Given the description of an element on the screen output the (x, y) to click on. 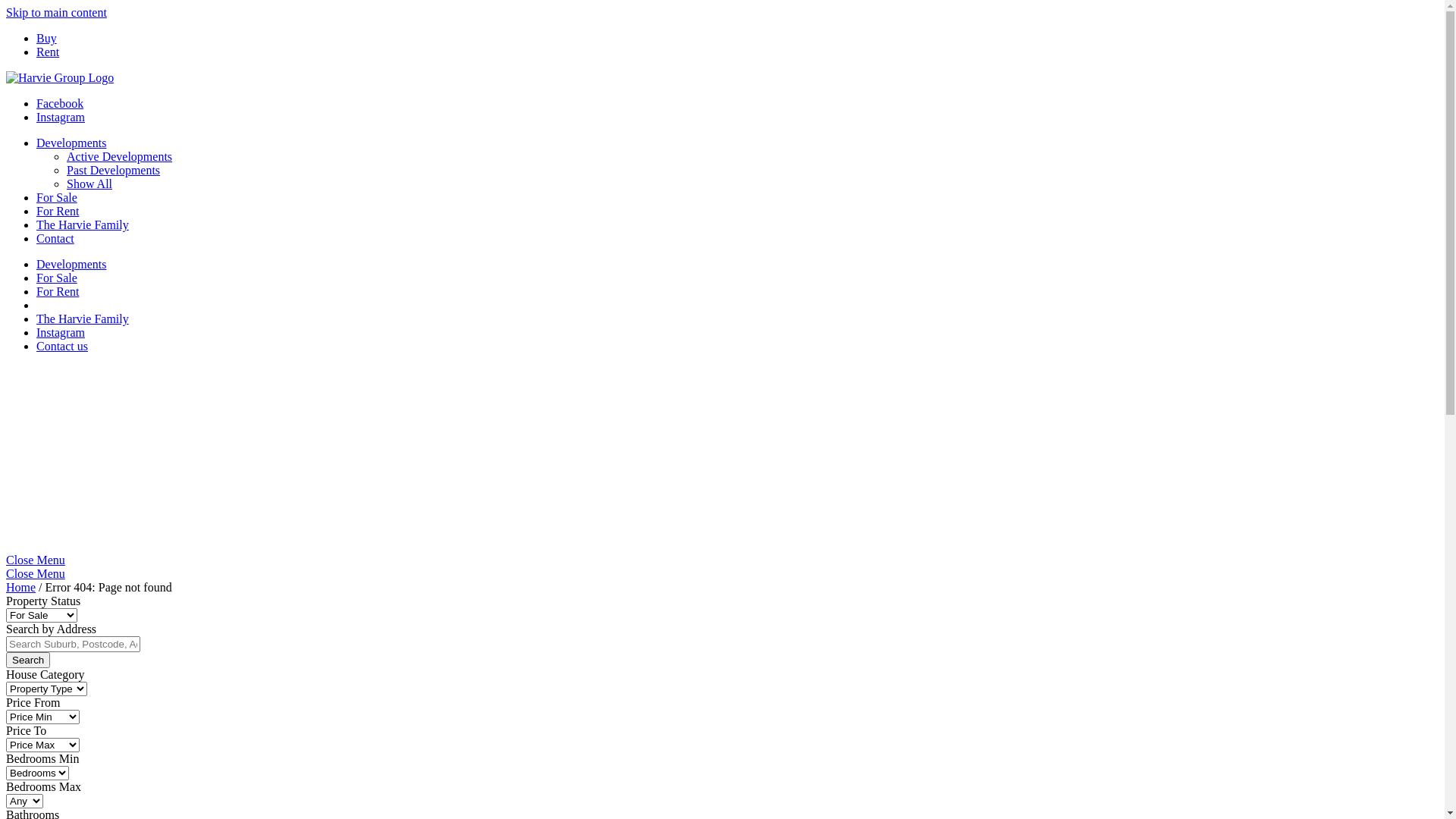
Close Menu Element type: text (35, 573)
Active Developments Element type: text (119, 156)
Close Menu Element type: text (35, 559)
Developments Element type: text (71, 142)
Contact us Element type: text (61, 345)
Harvie Group Logo Element type: hover (248, 545)
Buy Element type: text (46, 37)
Skip to main content Element type: text (56, 12)
Developments Element type: text (71, 263)
Search Element type: text (28, 660)
For Sale Element type: text (56, 197)
Show All Element type: text (89, 183)
Rent Element type: text (47, 51)
Instagram Element type: text (60, 332)
Contact Element type: text (55, 238)
The Harvie Family Element type: text (82, 224)
Harvie Group Logo Element type: hover (59, 77)
Instagram Element type: text (60, 116)
For Sale Element type: text (56, 277)
Home Element type: text (20, 586)
Facebook Element type: text (59, 103)
Past Developments Element type: text (113, 169)
The Harvie Family Element type: text (82, 318)
For Rent Element type: text (57, 291)
For Rent Element type: text (57, 210)
